Given the description of an element on the screen output the (x, y) to click on. 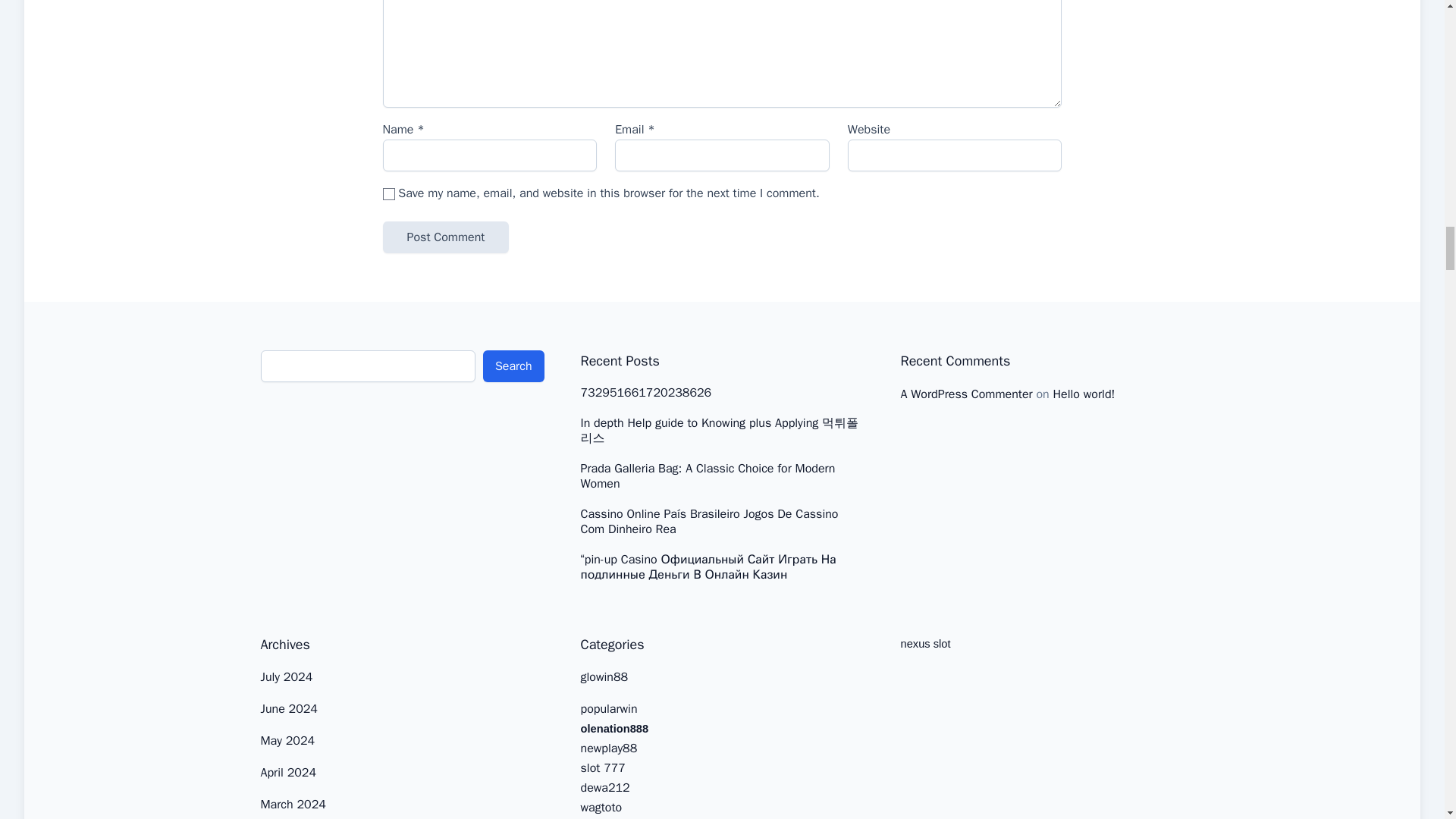
Hello world! (1083, 394)
Post Comment (444, 237)
A WordPress Commenter (966, 394)
April 2024 (288, 772)
March 2024 (293, 804)
732951661720238626 (645, 392)
Post Comment (444, 237)
July 2024 (286, 676)
yes (387, 193)
Prada Galleria Bag: A Classic Choice for Modern Women (722, 476)
May 2024 (287, 740)
Search (513, 366)
June 2024 (288, 708)
